Given the description of an element on the screen output the (x, y) to click on. 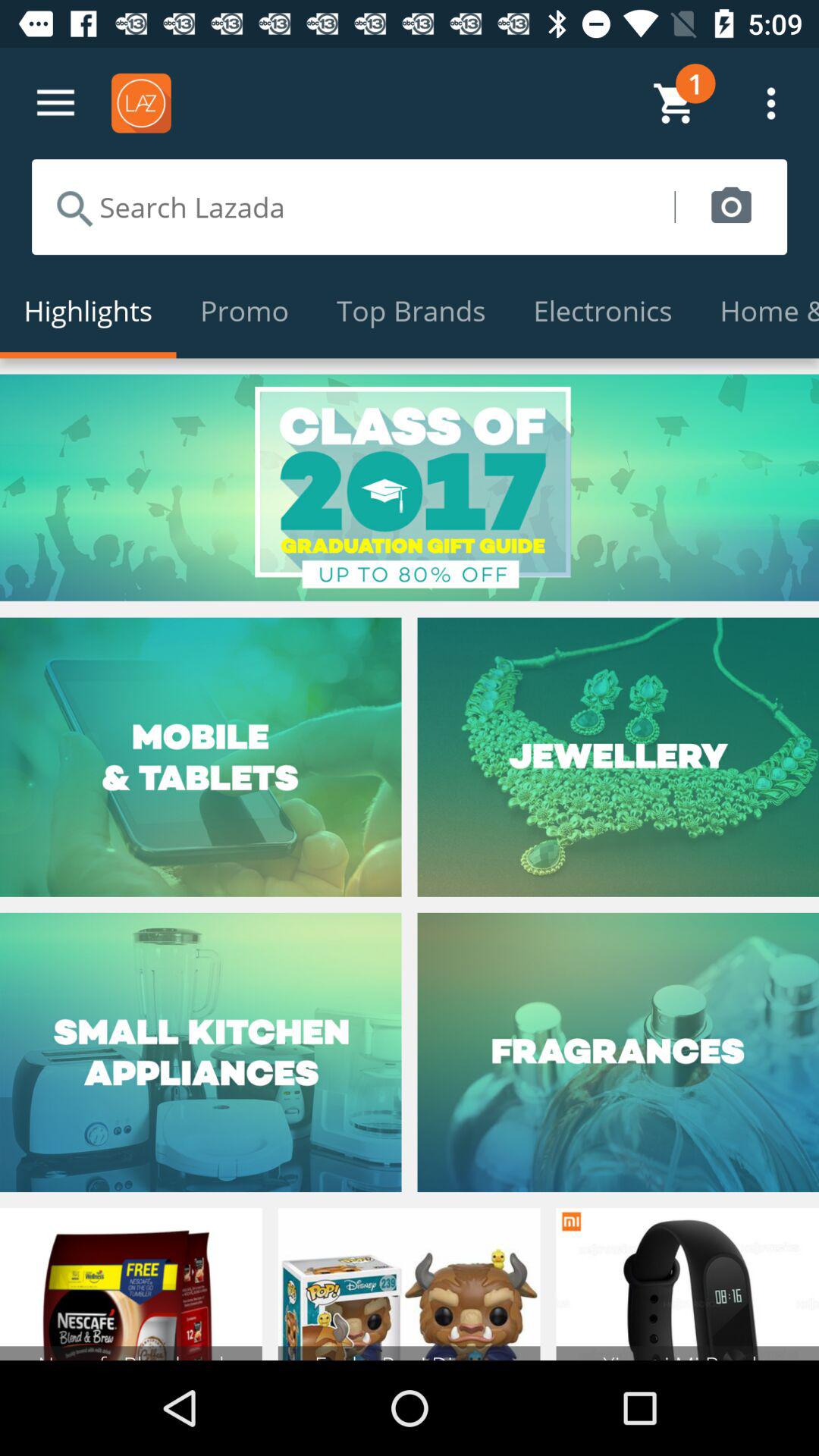
open up menu (55, 103)
